Given the description of an element on the screen output the (x, y) to click on. 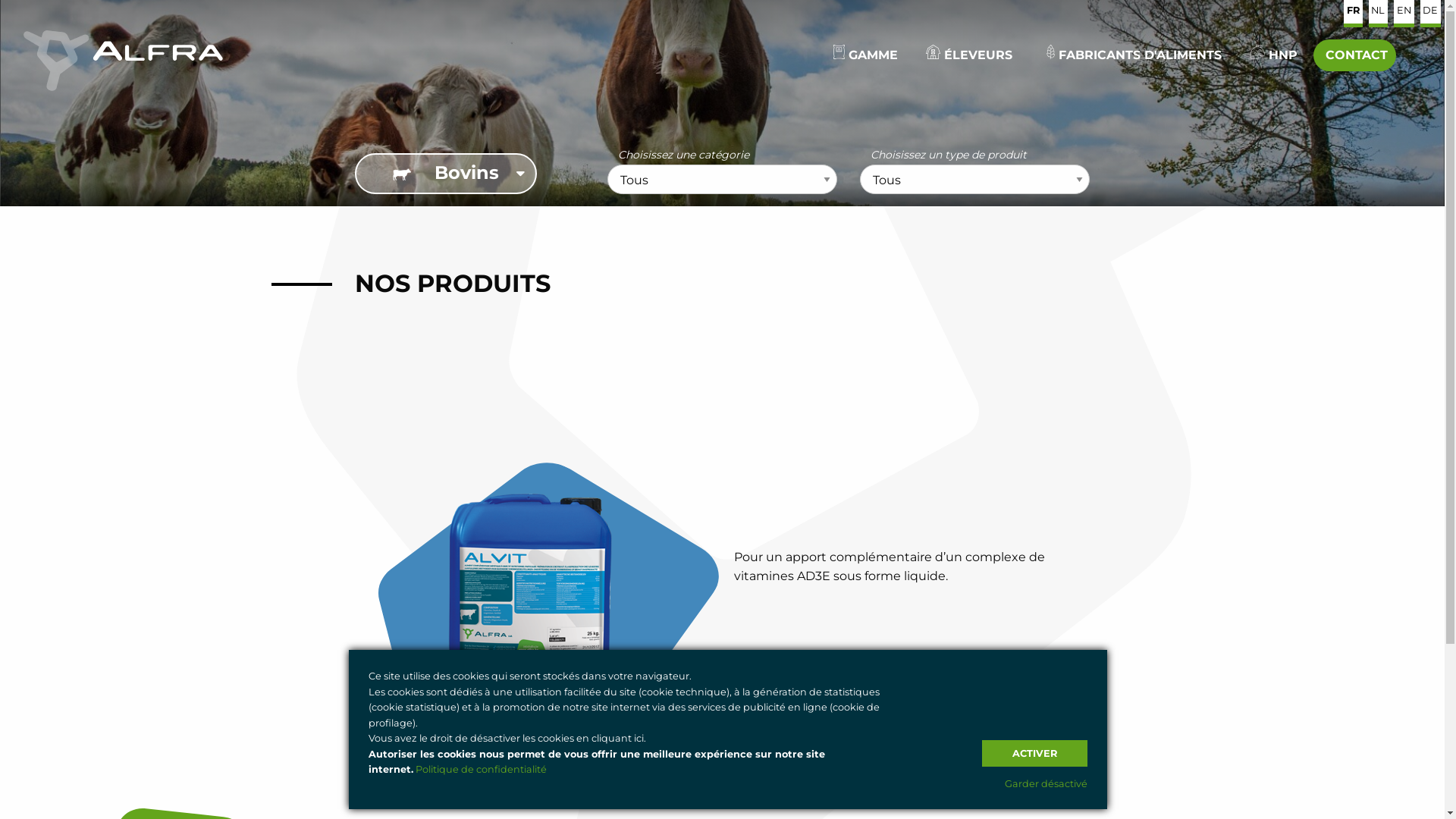
FABRICANTS D'ALIMENTS Element type: text (1130, 53)
FR Element type: text (1352, 13)
HNP Element type: text (1272, 53)
GAMME Element type: text (864, 53)
NL Element type: text (1378, 13)
CONTACT Element type: text (1354, 54)
DE Element type: text (1430, 13)
ACTIVER Element type: text (1034, 753)
EN Element type: text (1403, 13)
